Given the description of an element on the screen output the (x, y) to click on. 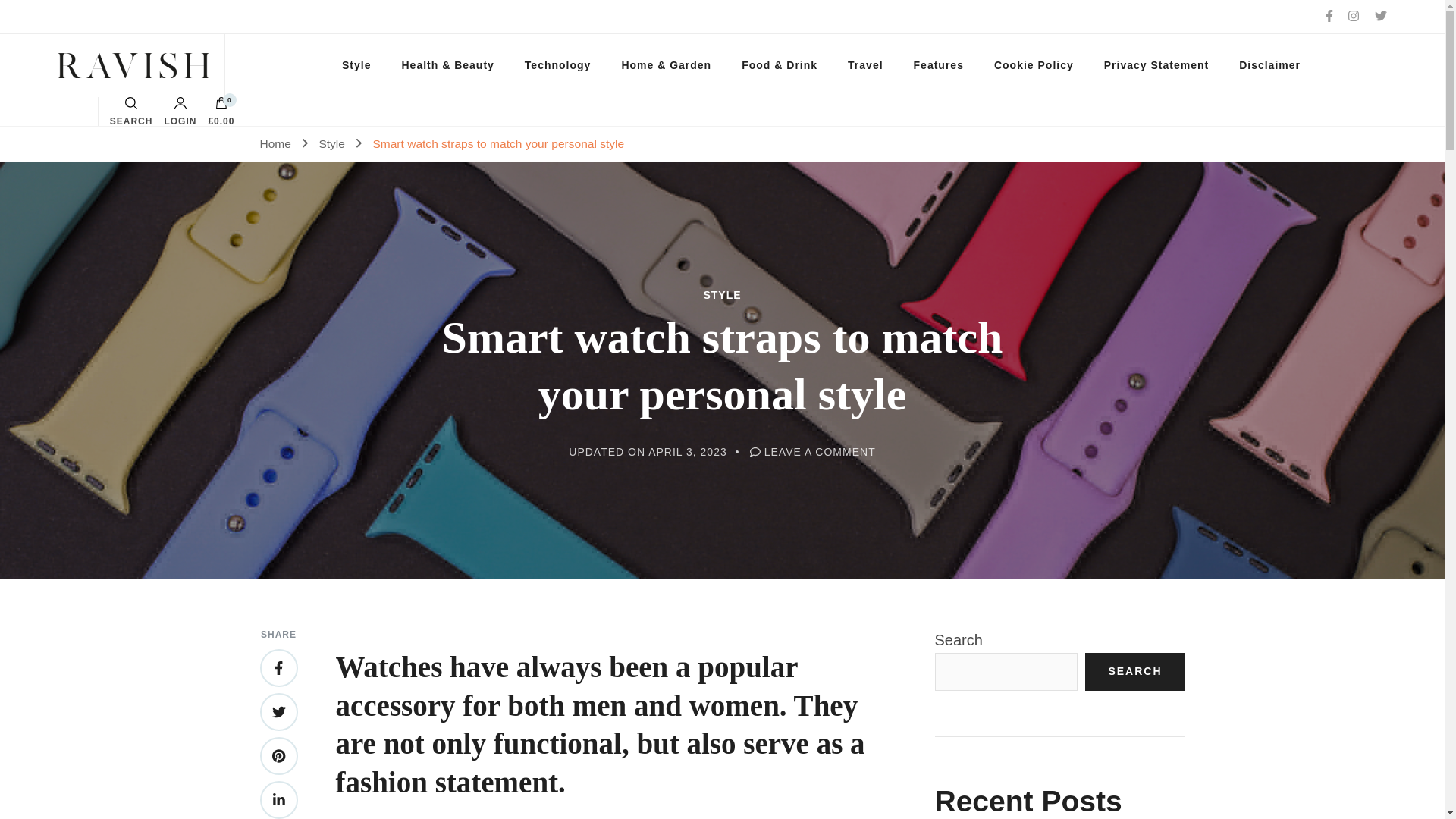
Travel (865, 65)
Ravish Magazine (113, 64)
Disclaimer (1270, 65)
Search (915, 417)
Privacy Statement (1156, 65)
LOGIN (179, 111)
Cookie Policy (1033, 65)
Technology (558, 65)
Features (938, 65)
SEARCH (131, 111)
